Given the description of an element on the screen output the (x, y) to click on. 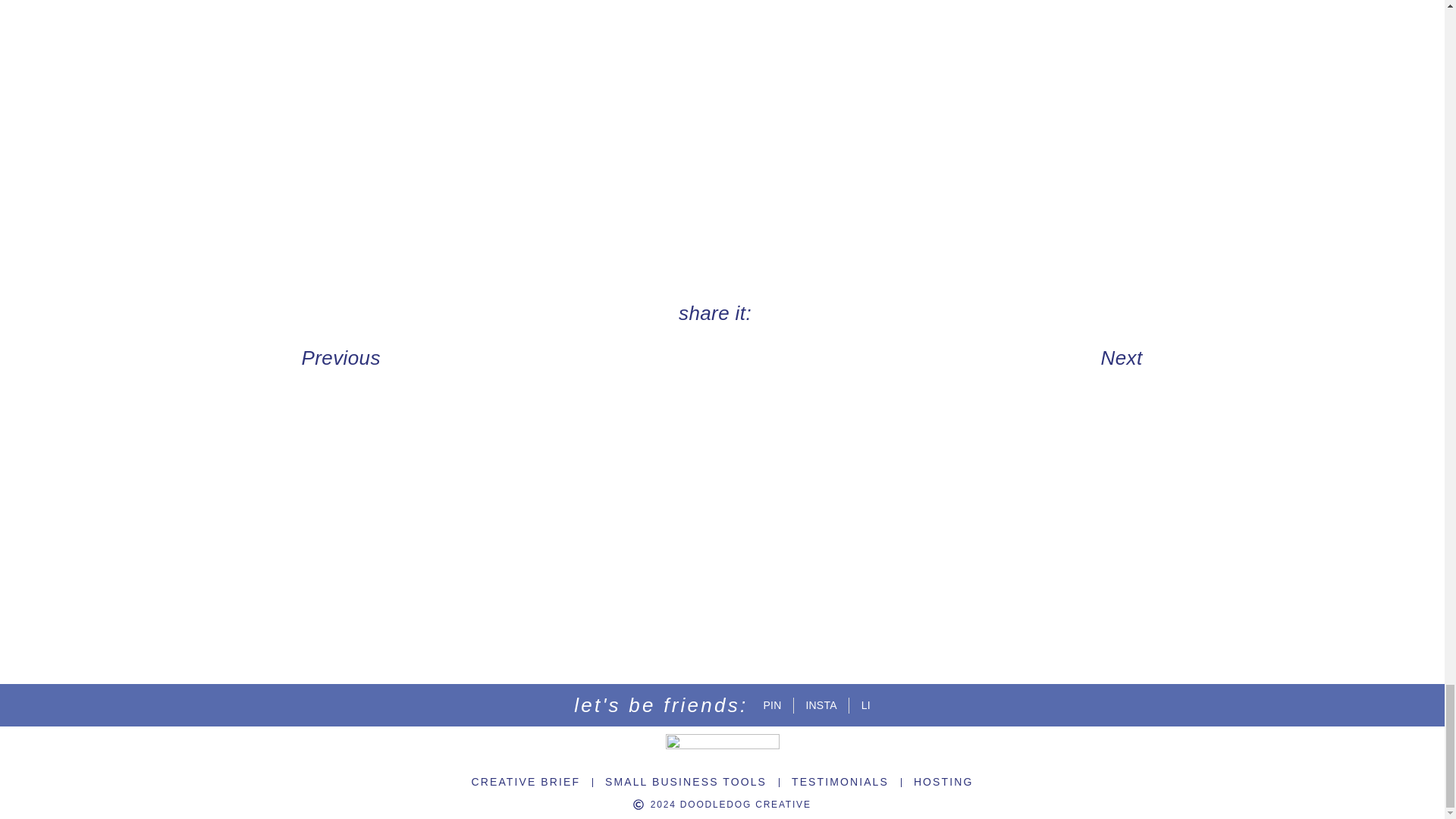
Next (938, 358)
PIN (771, 705)
CREATIVE BRIEF (525, 781)
HOSTING (943, 781)
INSTA (820, 705)
TESTIMONIALS (840, 781)
SMALL BUSINESS TOOLS (686, 781)
Previous (505, 358)
